Given the description of an element on the screen output the (x, y) to click on. 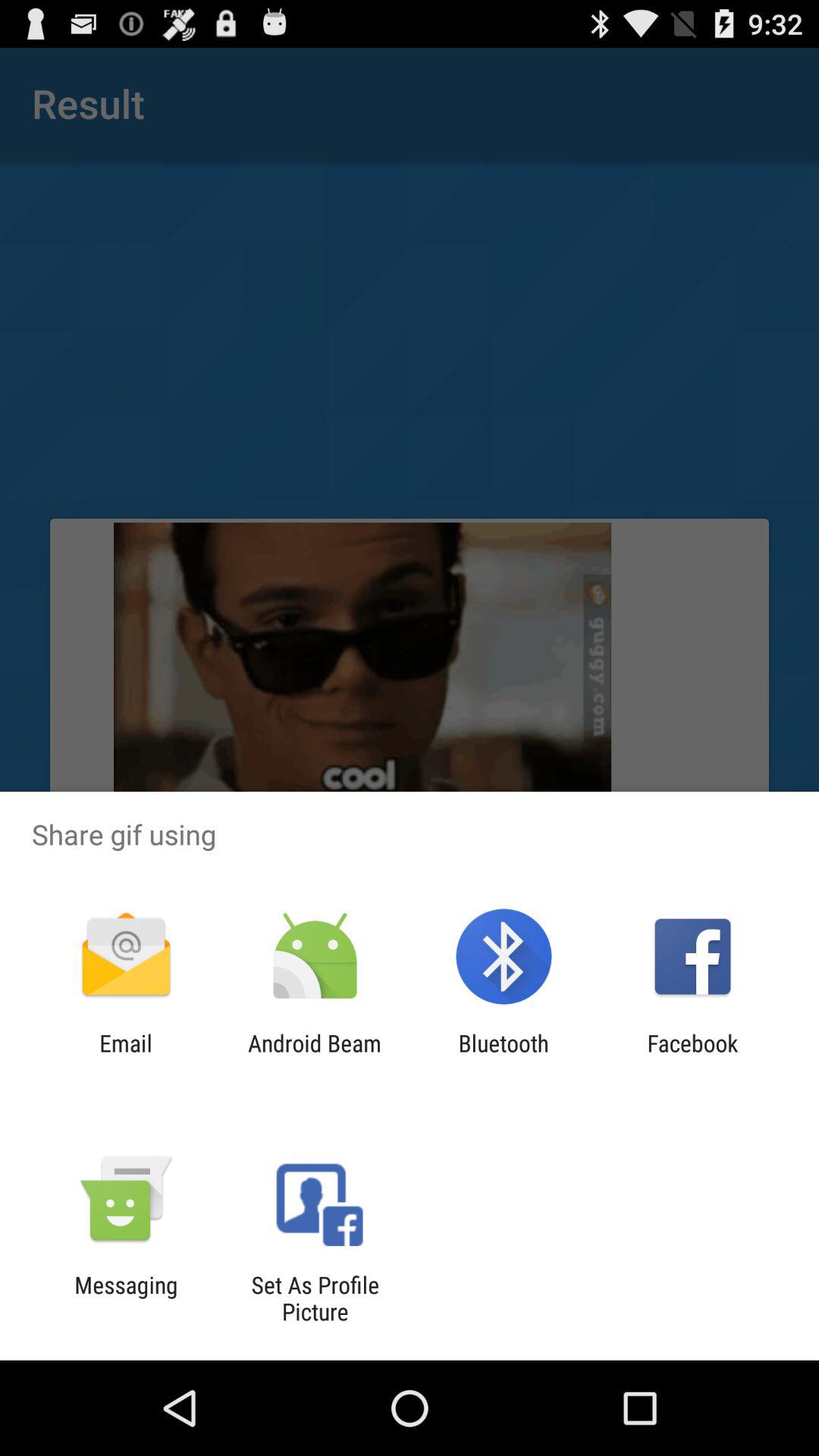
press item to the left of the bluetooth app (314, 1056)
